Given the description of an element on the screen output the (x, y) to click on. 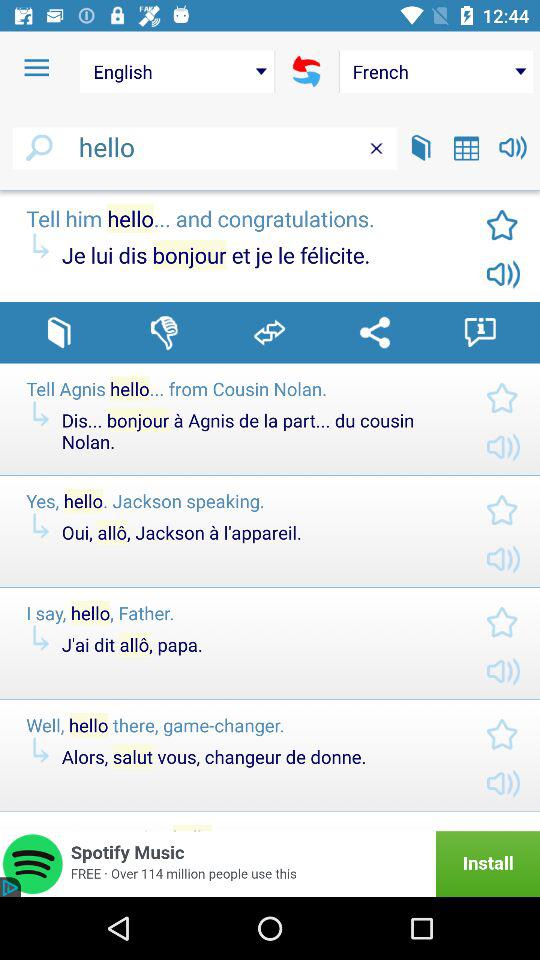
reverse language (306, 71)
